Given the description of an element on the screen output the (x, y) to click on. 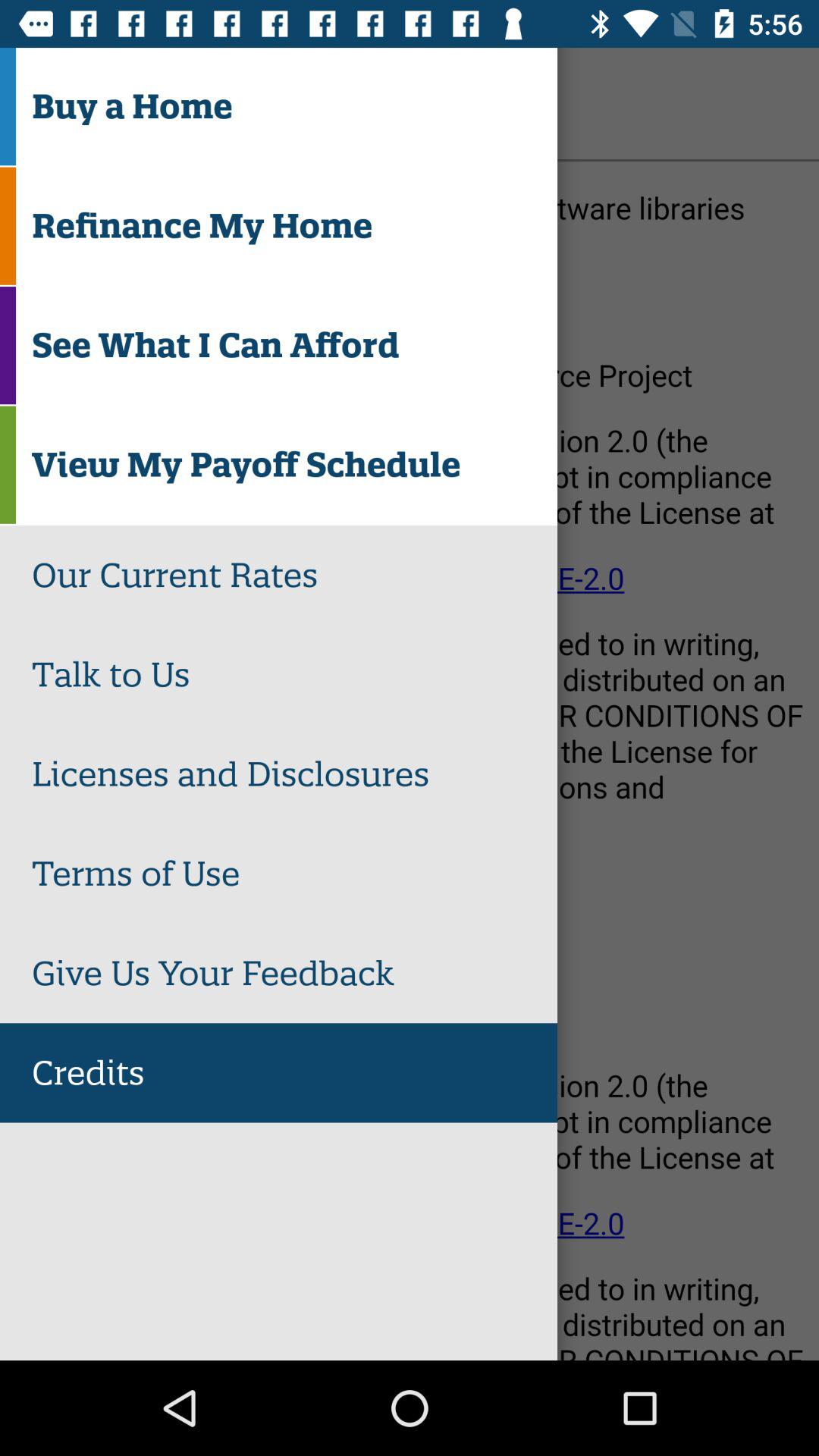
open licenses and disclosures (294, 774)
